Given the description of an element on the screen output the (x, y) to click on. 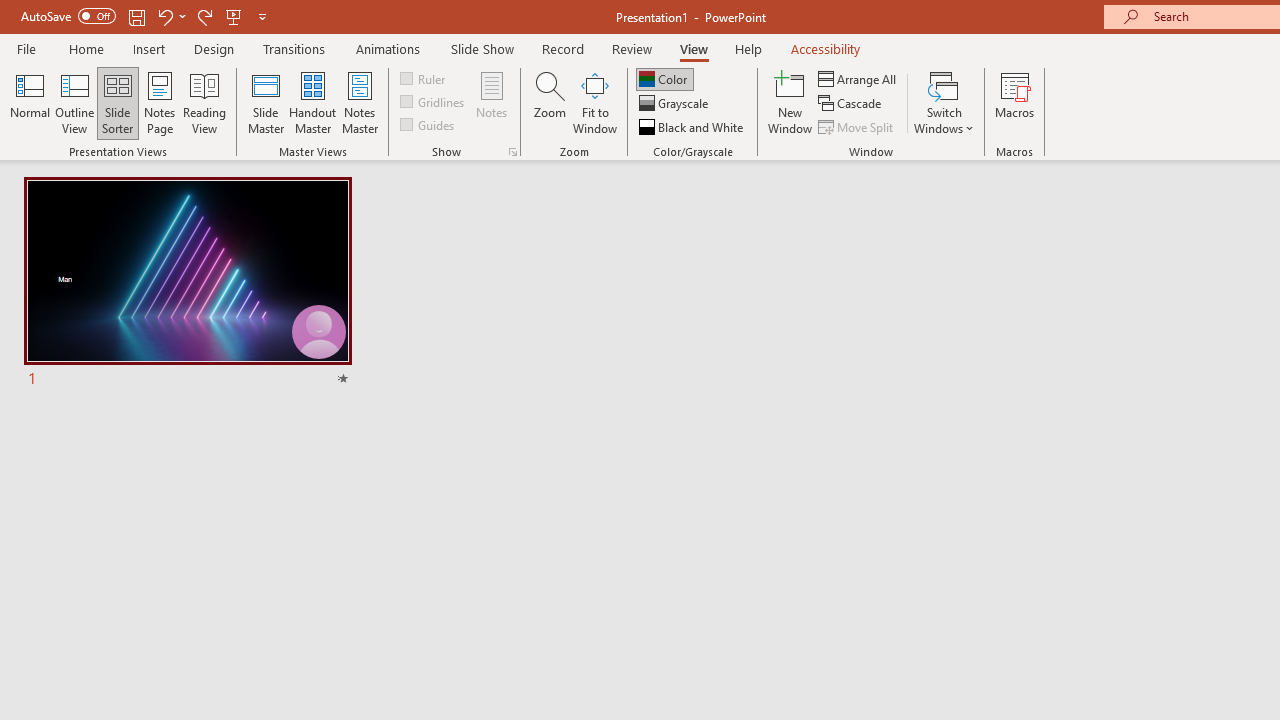
Slide Master (265, 102)
Notes Master (360, 102)
Color (664, 78)
Outline View (74, 102)
Grid Settings... (512, 151)
Macros (1014, 102)
